Given the description of an element on the screen output the (x, y) to click on. 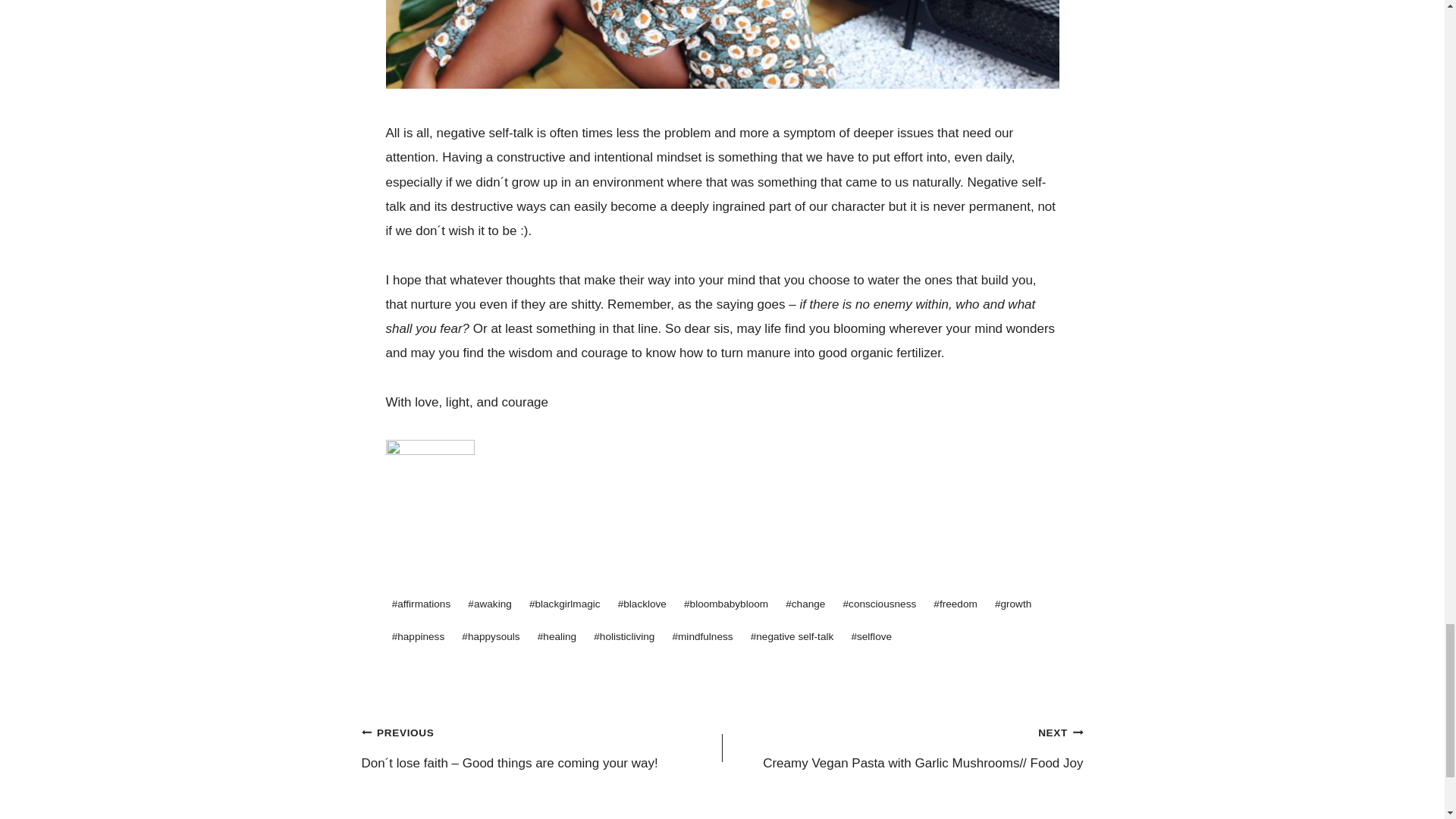
freedom (955, 603)
healing (557, 637)
negative self-talk (792, 637)
bloombabybloom (726, 603)
awaking (489, 603)
selflove (871, 637)
blackgirlmagic (564, 603)
happiness (417, 637)
growth (1013, 603)
happysouls (490, 637)
